Given the description of an element on the screen output the (x, y) to click on. 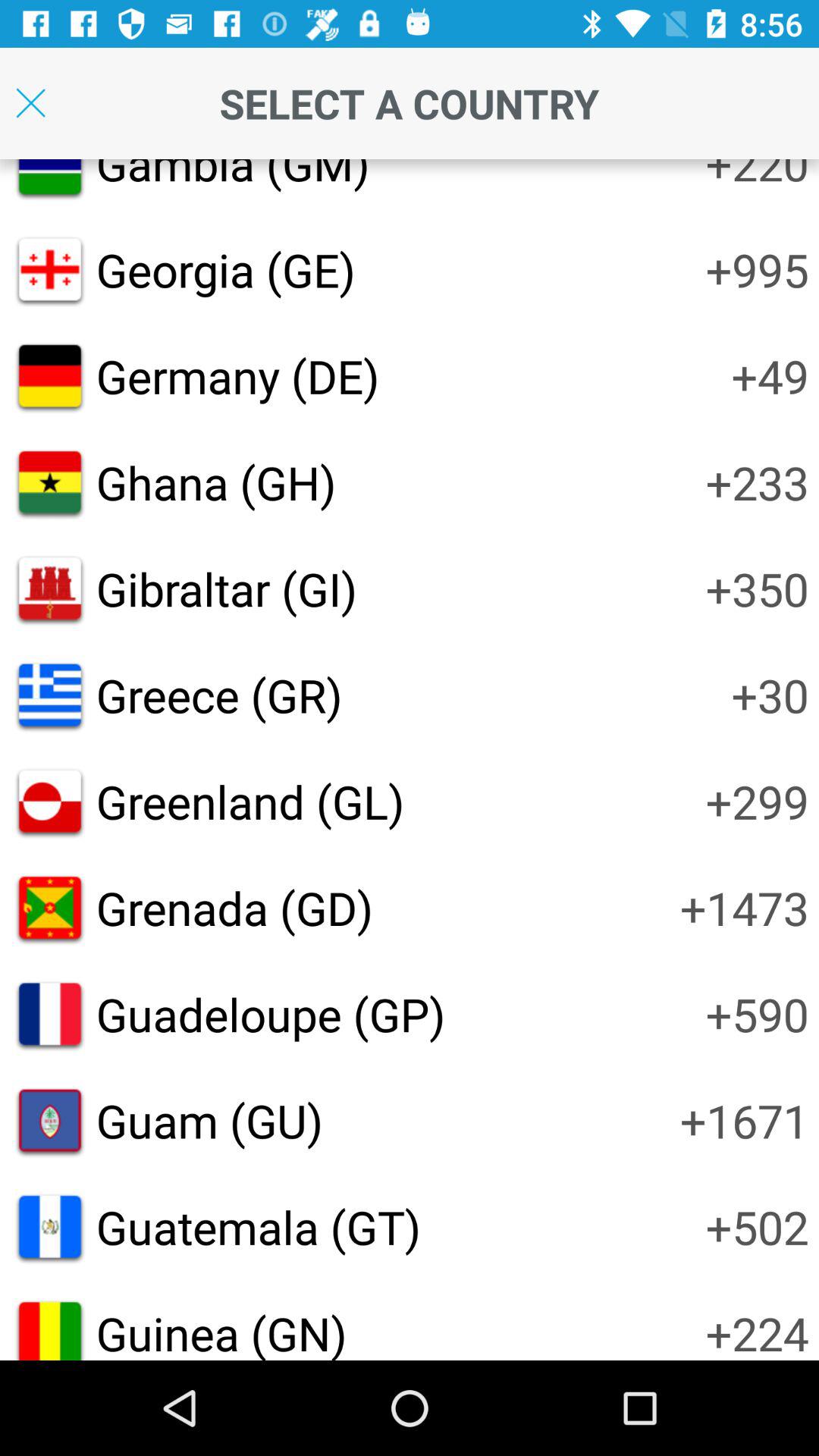
open icon next to guam (gu) item (744, 1120)
